Given the description of an element on the screen output the (x, y) to click on. 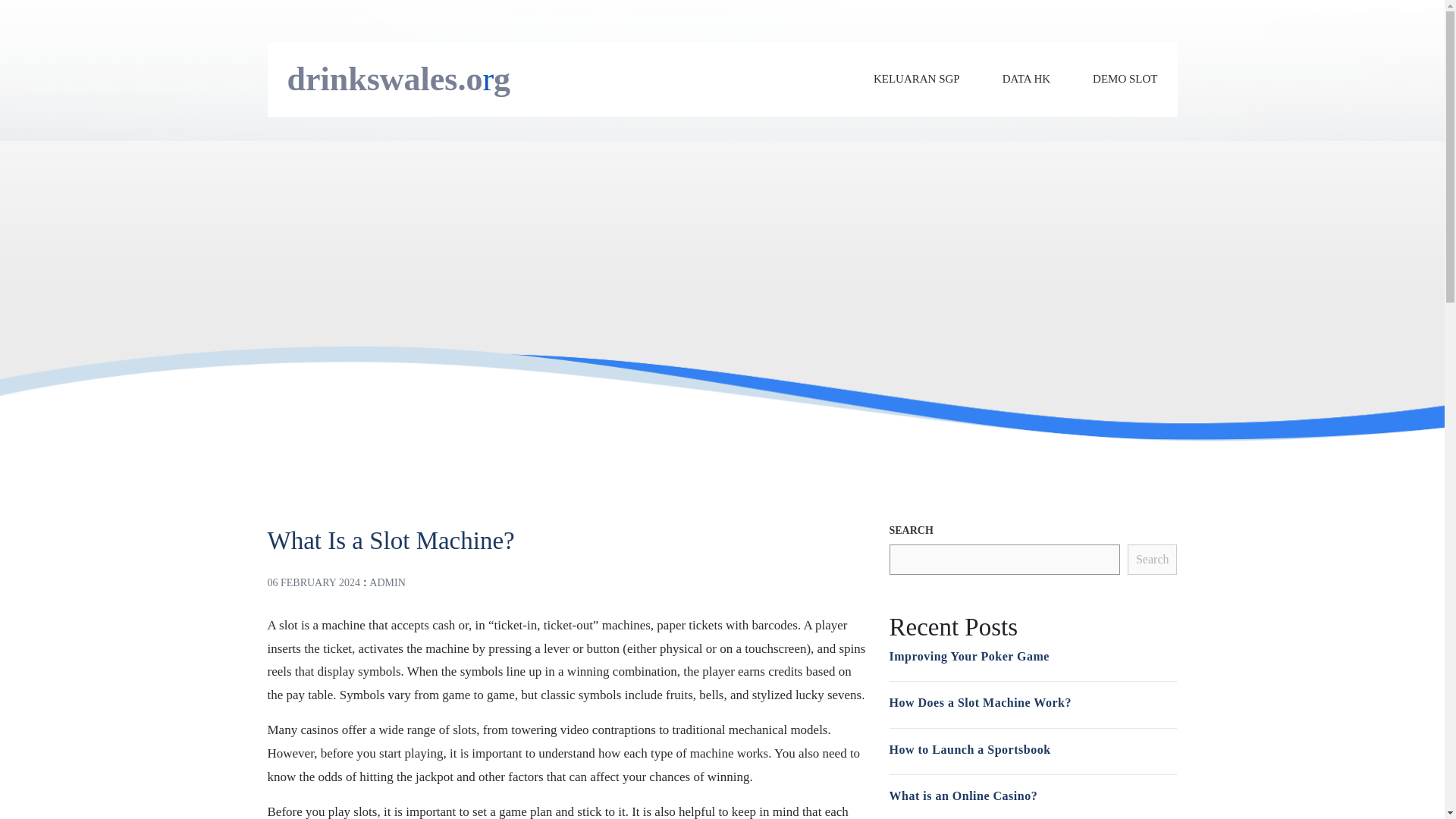
06 FEBRUARY 2024 (312, 582)
ADMIN (386, 582)
What is an Online Casino? (962, 795)
KELUARAN SGP (916, 78)
How to Launch a Sportsbook (968, 748)
DEMO SLOT (1125, 78)
Search (1151, 559)
How Does a Slot Machine Work? (979, 702)
DATA HK (1026, 78)
Improving Your Poker Game (968, 655)
